Given the description of an element on the screen output the (x, y) to click on. 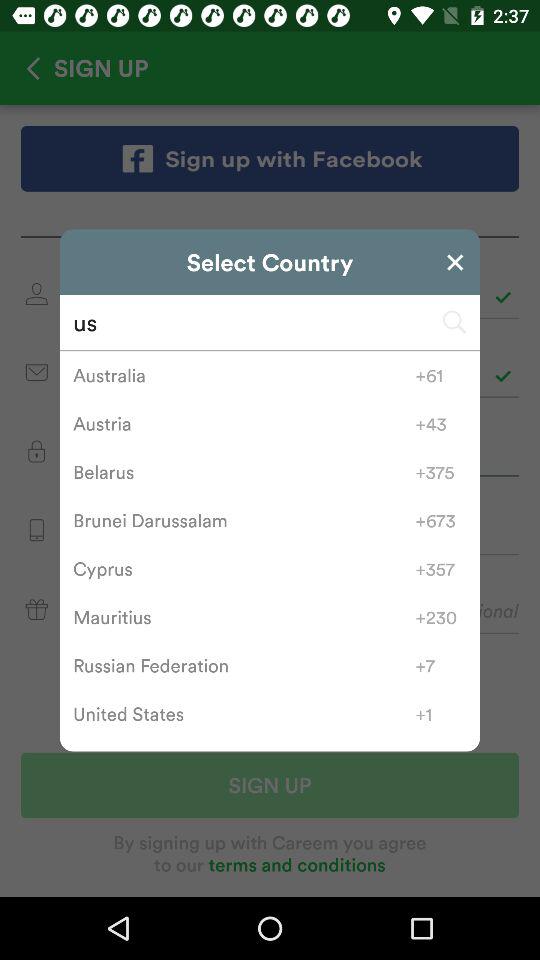
click the icon next to the brunei darussalam (440, 520)
